Given the description of an element on the screen output the (x, y) to click on. 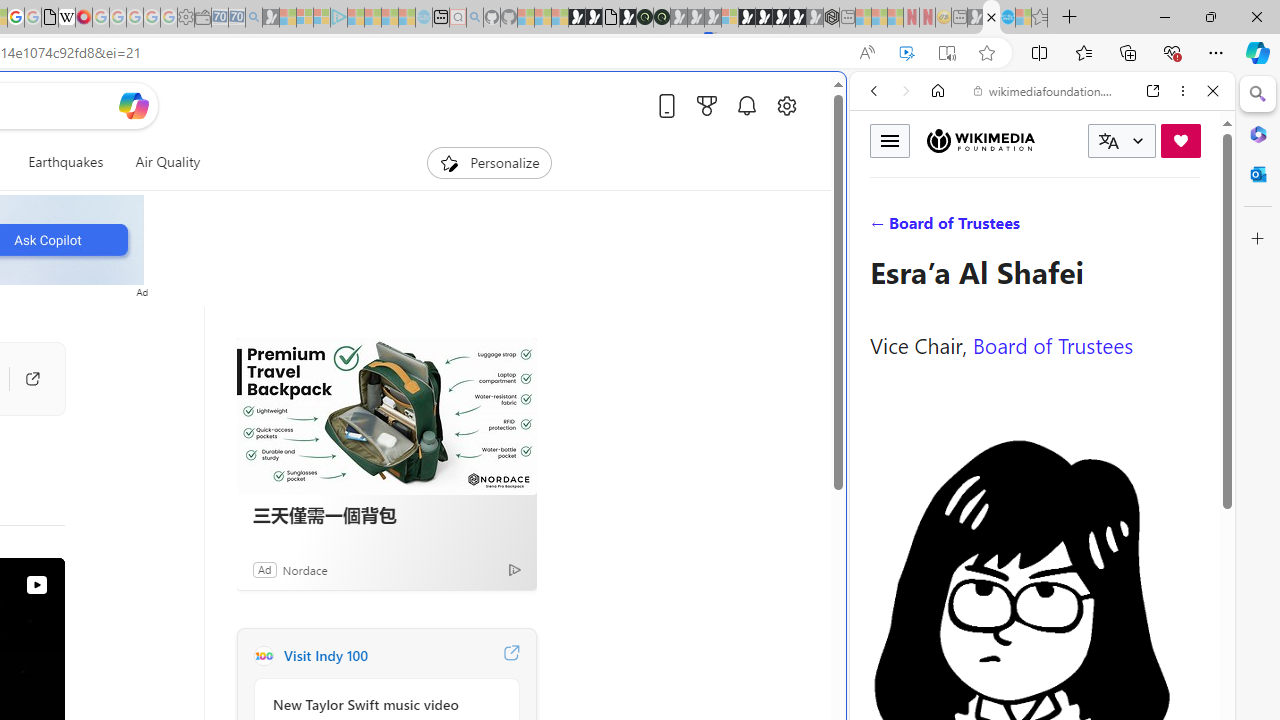
Visit Indy 100 website (511, 655)
Class: i icon icon-translate language-switcher__icon (1108, 141)
Settings - Sleeping (185, 17)
Sign in to your account - Sleeping (729, 17)
